Given the description of an element on the screen output the (x, y) to click on. 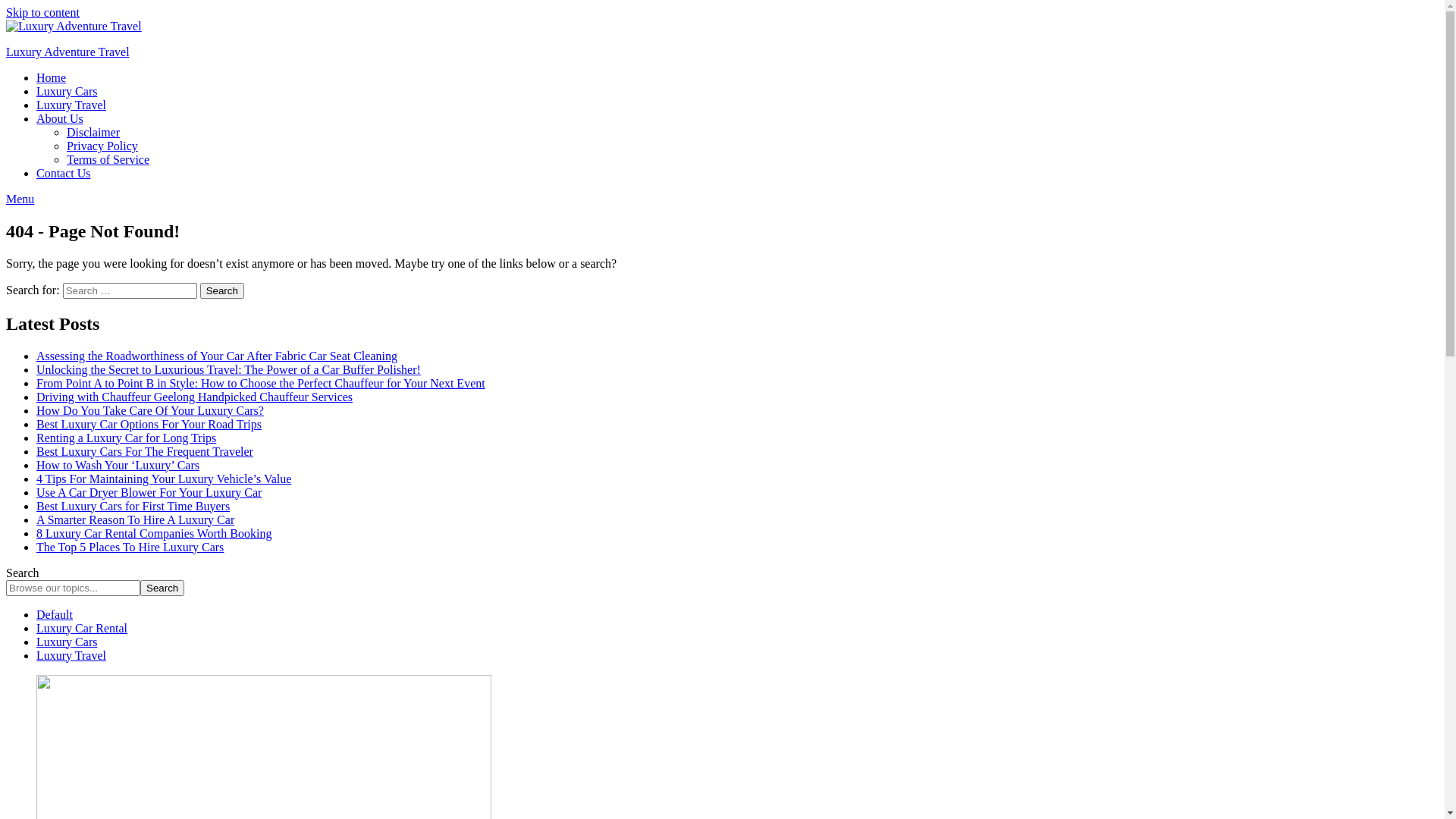
8 Luxury Car Rental Companies Worth Booking Element type: text (153, 533)
Luxury Cars Element type: text (66, 90)
Best Luxury Car Options For Your Road Trips Element type: text (148, 423)
Default Element type: text (54, 614)
Renting a Luxury Car for Long Trips Element type: text (126, 437)
Luxury Travel Element type: text (71, 655)
Luxury Car Rental Element type: text (81, 627)
How Do You Take Care Of Your Luxury Cars? Element type: text (149, 410)
A Smarter Reason To Hire A Luxury Car Element type: text (135, 519)
Home Element type: text (50, 77)
Search Element type: text (222, 290)
Best Luxury Cars for First Time Buyers Element type: text (132, 505)
Skip to content Element type: text (42, 12)
Luxury Travel Element type: text (71, 104)
The Top 5 Places To Hire Luxury Cars Element type: text (129, 546)
Luxury Cars Element type: text (66, 641)
Driving with Chauffeur Geelong Handpicked Chauffeur Services Element type: text (194, 396)
About Us Element type: text (59, 118)
Search Element type: text (162, 588)
Luxury Adventure Travel Element type: text (67, 51)
Disclaimer Element type: text (92, 131)
Best Luxury Cars For The Frequent Traveler Element type: text (144, 451)
Use A Car Dryer Blower For Your Luxury Car Element type: text (148, 492)
Menu Element type: text (20, 198)
Privacy Policy Element type: text (102, 145)
Terms of Service Element type: text (107, 159)
Contact Us Element type: text (63, 172)
